Given the description of an element on the screen output the (x, y) to click on. 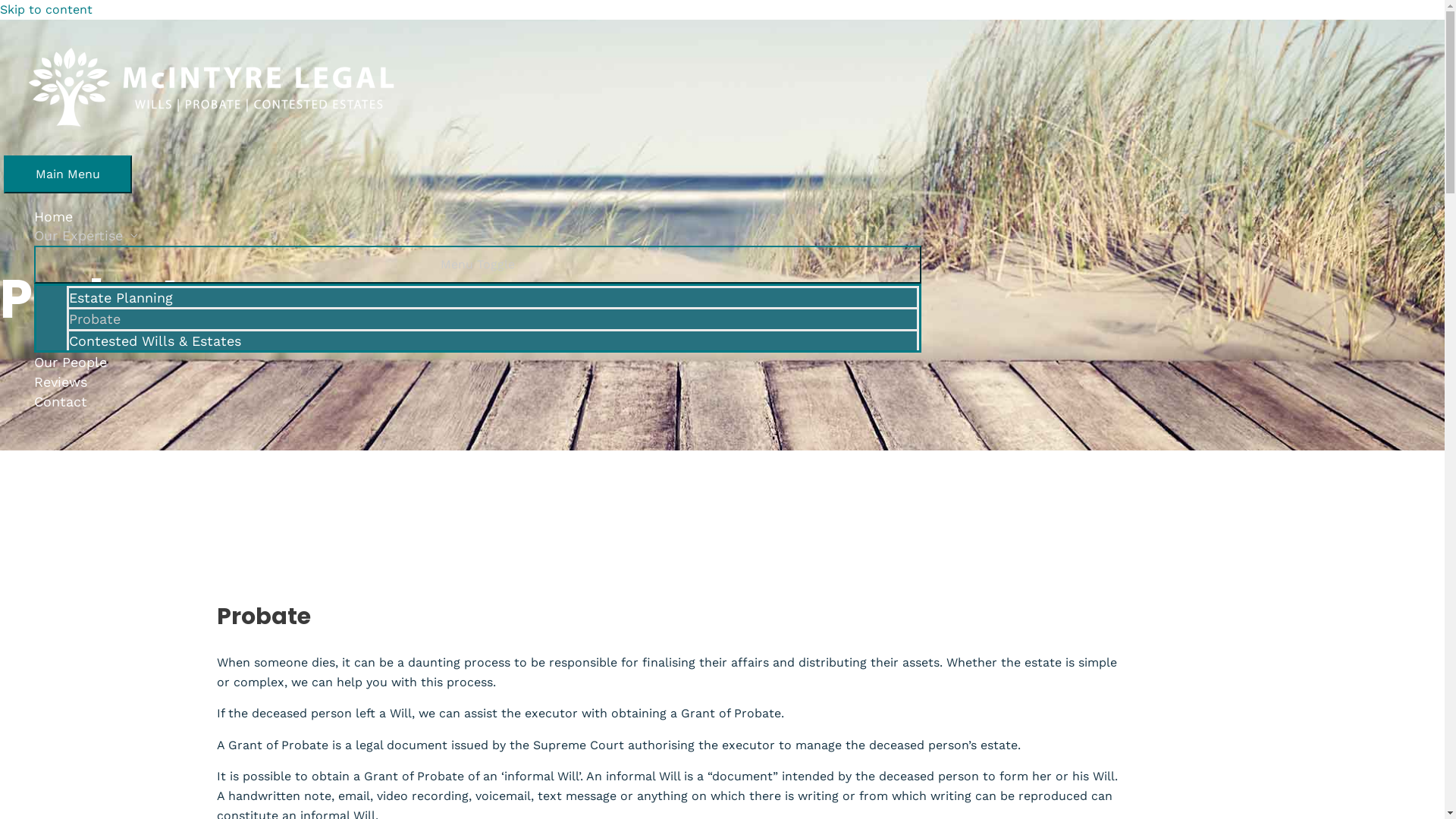
Our Expertise Element type: text (477, 235)
Reviews Element type: text (477, 382)
Our People Element type: text (477, 362)
Main Menu Element type: text (67, 174)
Probate Element type: text (492, 318)
Contact Element type: text (477, 401)
Contested Wills & Estates Element type: text (492, 340)
Home Element type: text (477, 216)
Skip to content Element type: text (46, 9)
Menu Toggle Element type: text (477, 264)
Estate Planning Element type: text (492, 296)
